Given the description of an element on the screen output the (x, y) to click on. 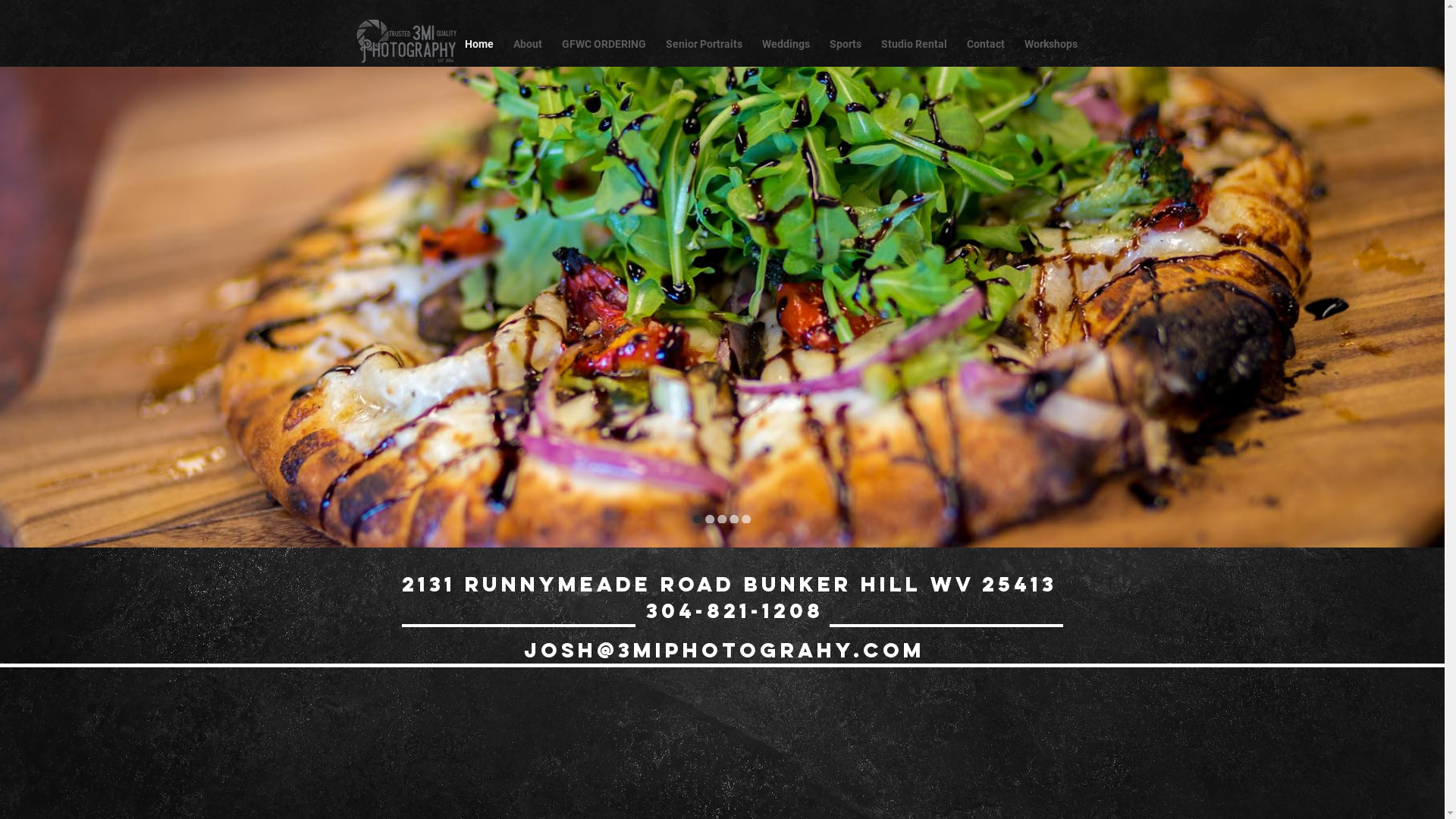
Workshops Element type: text (1050, 43)
GFWC ORDERING Element type: text (603, 43)
Weddings Element type: text (785, 43)
Contact Element type: text (985, 43)
Studio Rental Element type: text (913, 43)
Senior Portraits Element type: text (703, 43)
Home Element type: text (479, 43)
Sports Element type: text (844, 43)
About Element type: text (527, 43)
josh@3miphotograhy.com Element type: text (723, 649)
